Given the description of an element on the screen output the (x, y) to click on. 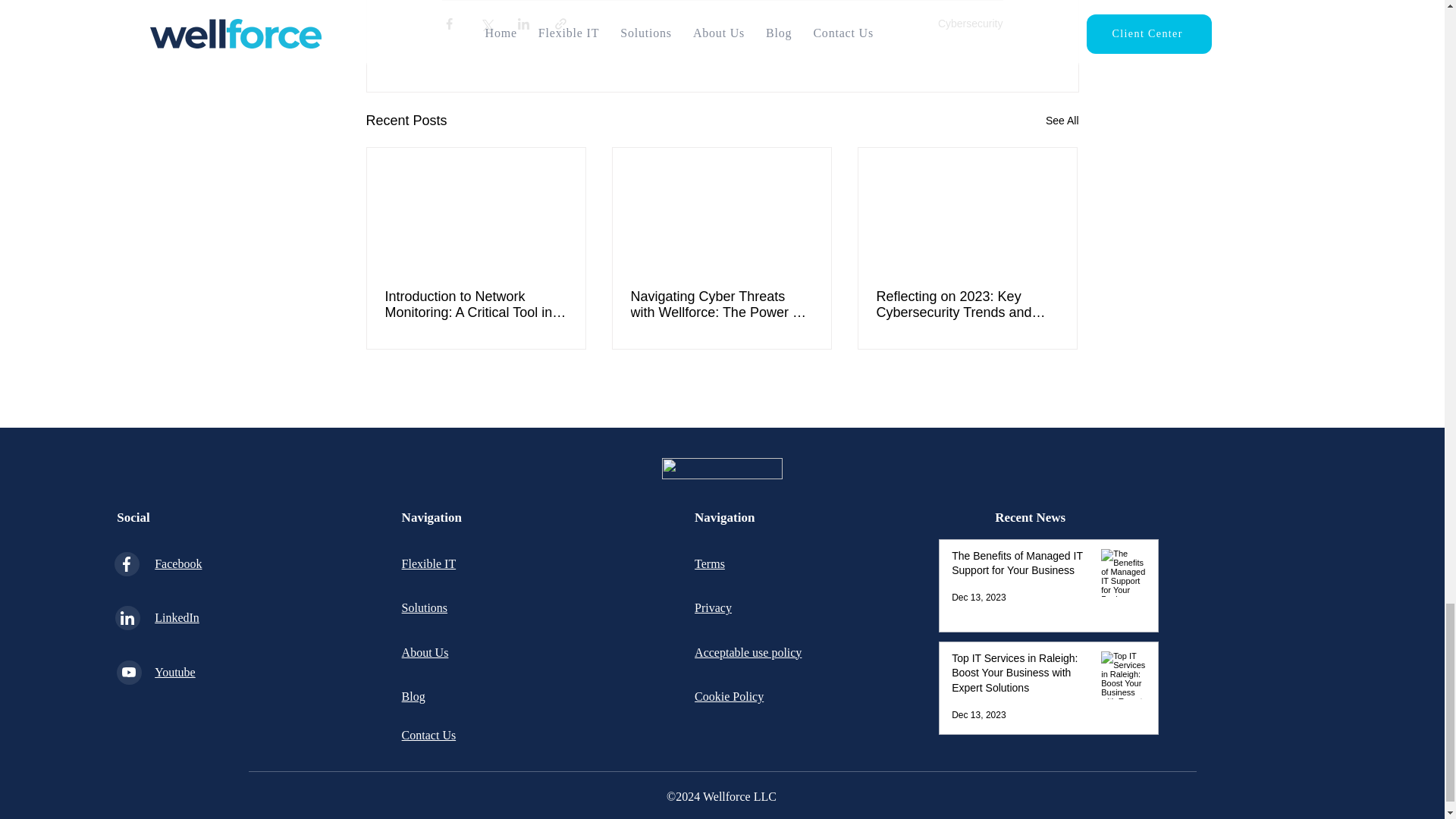
Cybersecurity (970, 22)
See All (1061, 120)
WFWhite 1.png (721, 468)
Dec 13, 2023 (979, 715)
Dec 13, 2023 (979, 597)
